Given the description of an element on the screen output the (x, y) to click on. 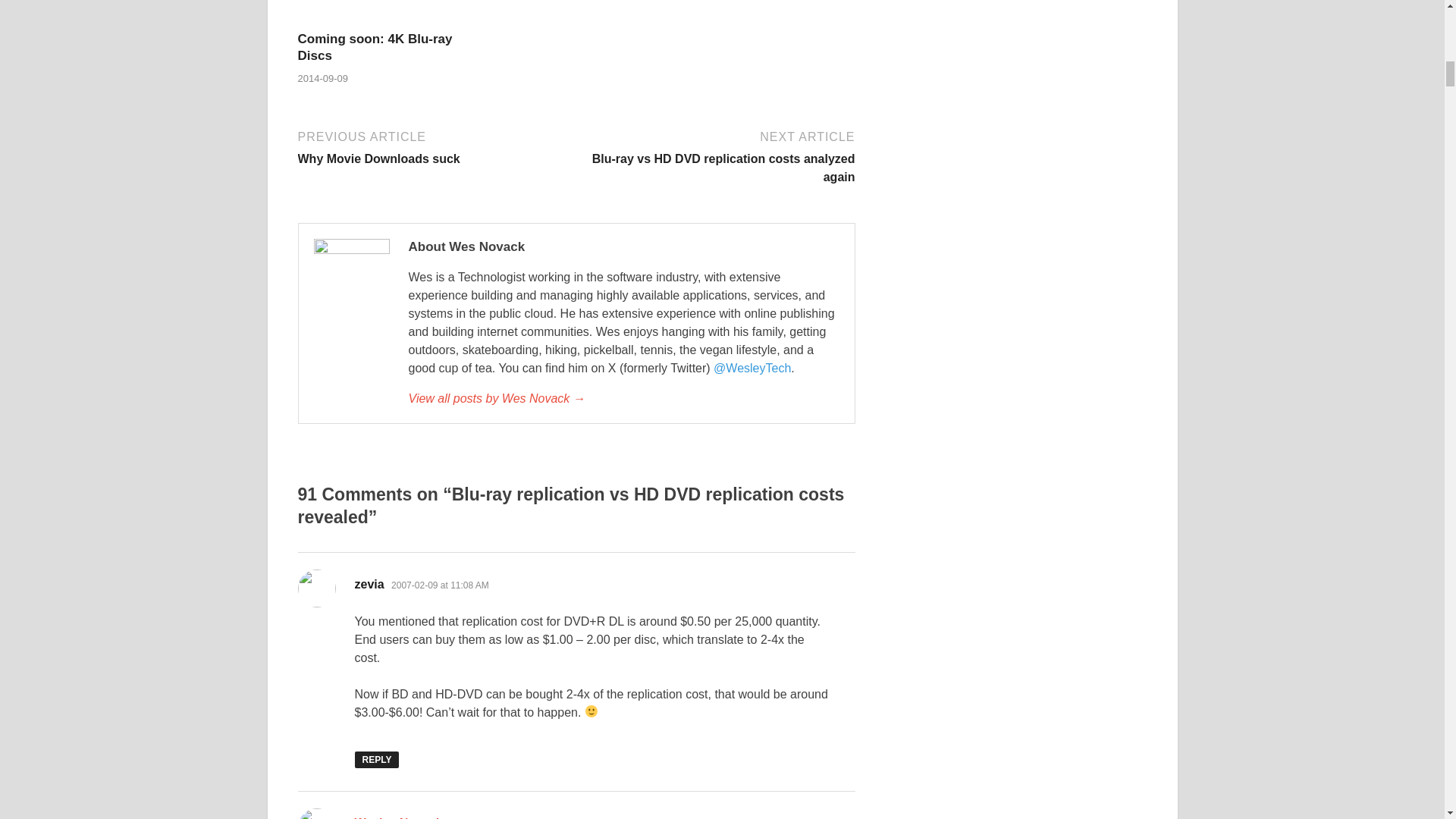
REPLY (376, 759)
Wesley Novack (398, 817)
Coming soon: 4K Blu-ray Discs (383, 21)
Coming soon: 4K Blu-ray Discs (374, 47)
Coming soon: 4K Blu-ray Discs (374, 47)
Wes Novack (622, 398)
2007-02-09 at 11:08 AM (434, 146)
